Given the description of an element on the screen output the (x, y) to click on. 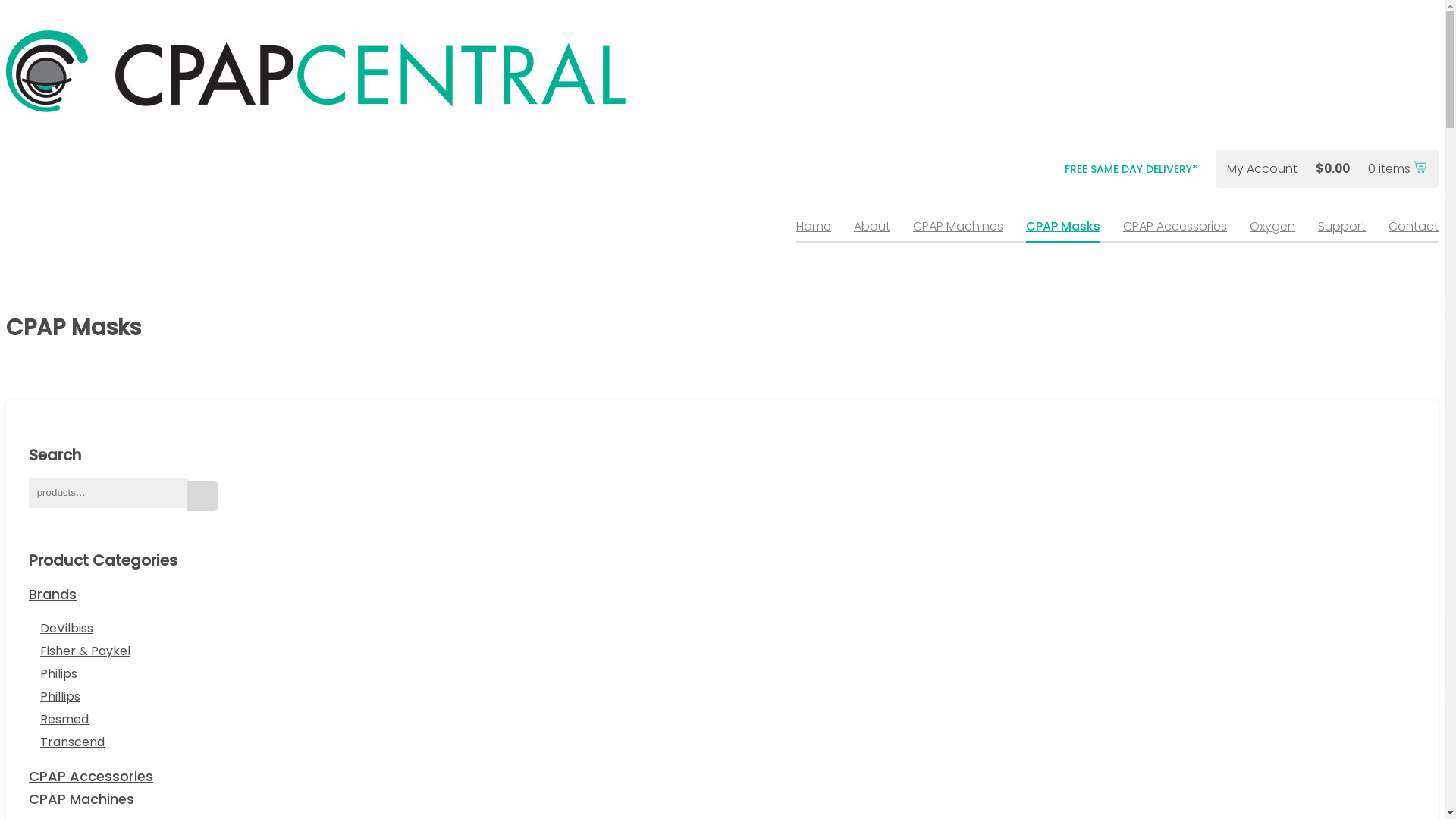
Transcend Element type: text (72, 741)
Brands Element type: text (52, 593)
Resmed Element type: text (64, 719)
0 items Element type: text (1397, 168)
$0.00 Element type: text (1332, 168)
Contact Element type: text (1413, 229)
My Account Element type: text (1261, 168)
Phillips Element type: text (60, 696)
DeVilbiss Element type: text (66, 628)
CPAP Masks Element type: text (1063, 229)
CPAP Accessories Element type: text (90, 775)
CPAP Machines Element type: text (81, 798)
CPAP Machines Element type: text (958, 229)
Support Element type: text (1341, 229)
Fisher & Paykel Element type: text (85, 650)
About Element type: text (871, 229)
Philips Element type: text (58, 673)
Home Element type: text (813, 229)
Oxygen Element type: text (1272, 229)
FREE SAME DAY DELIVERY* Element type: text (1130, 172)
CPAP Accessories Element type: text (1174, 229)
